Given the description of an element on the screen output the (x, y) to click on. 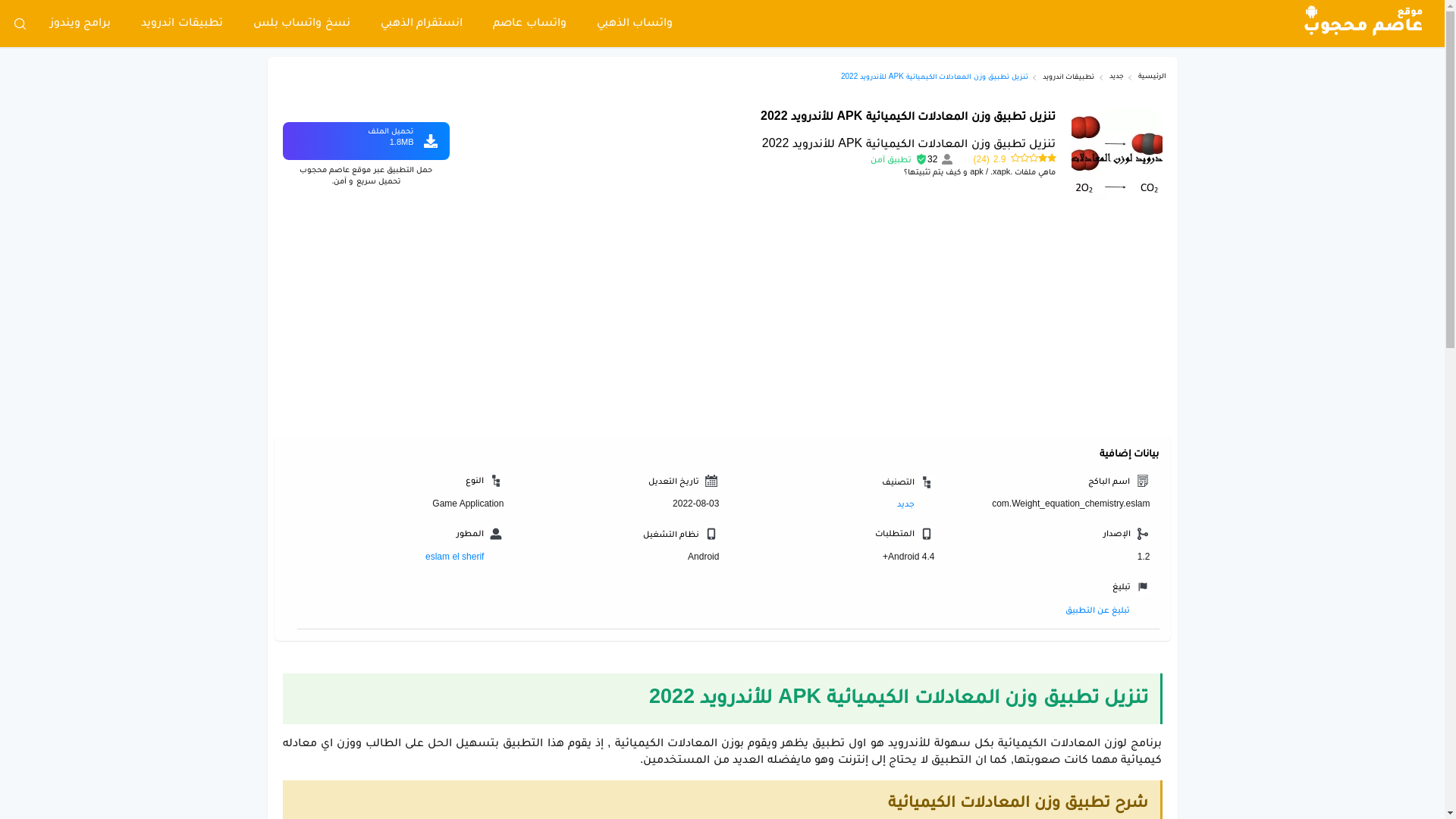
Advertisement Element type: hover (721, 321)
eslam el sherif Element type: text (464, 557)
search button Element type: hover (19, 23)
